Given the description of an element on the screen output the (x, y) to click on. 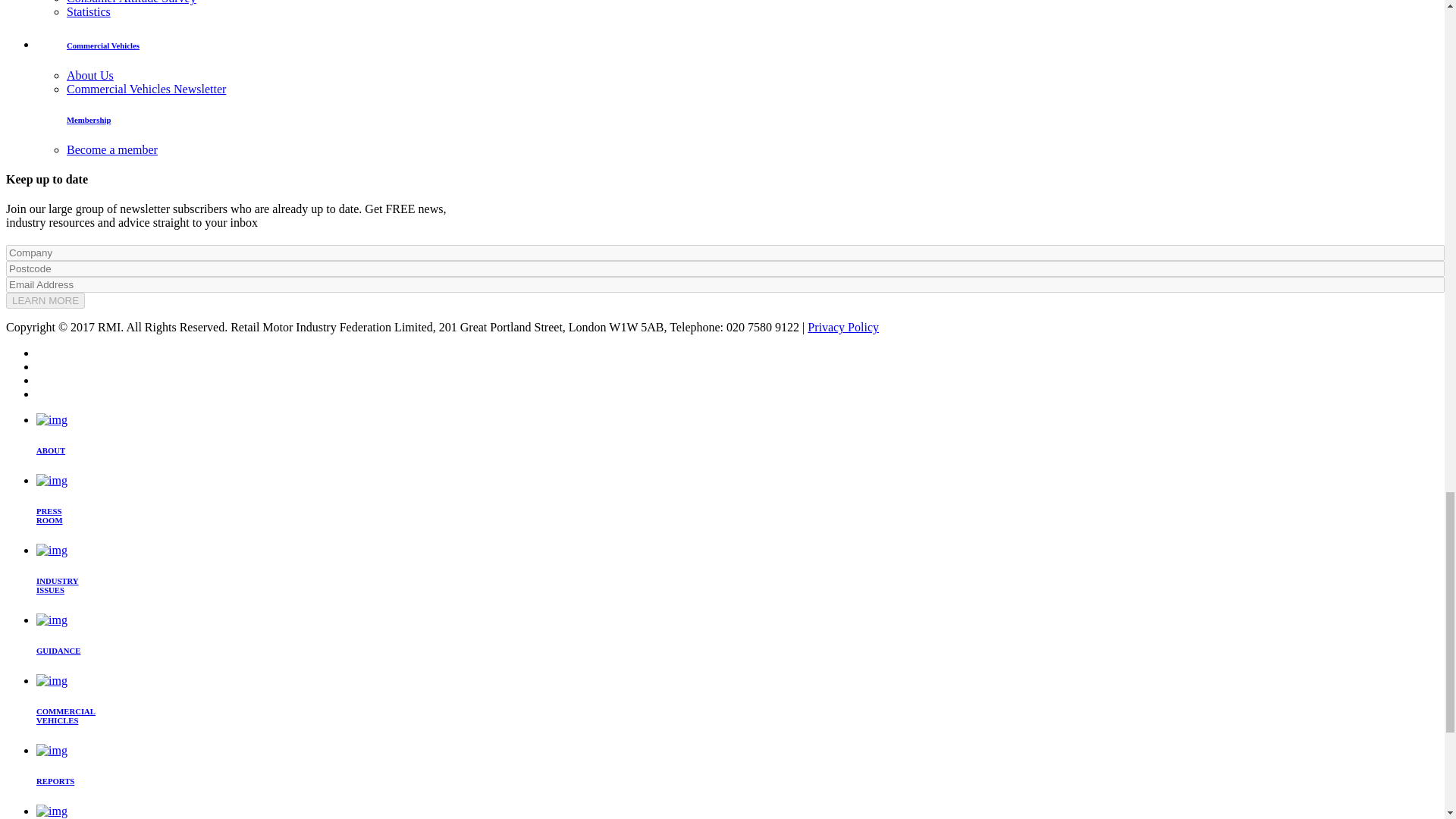
About Us (89, 74)
Statistics (88, 11)
Consumer Attitude Survey (131, 2)
